Given the description of an element on the screen output the (x, y) to click on. 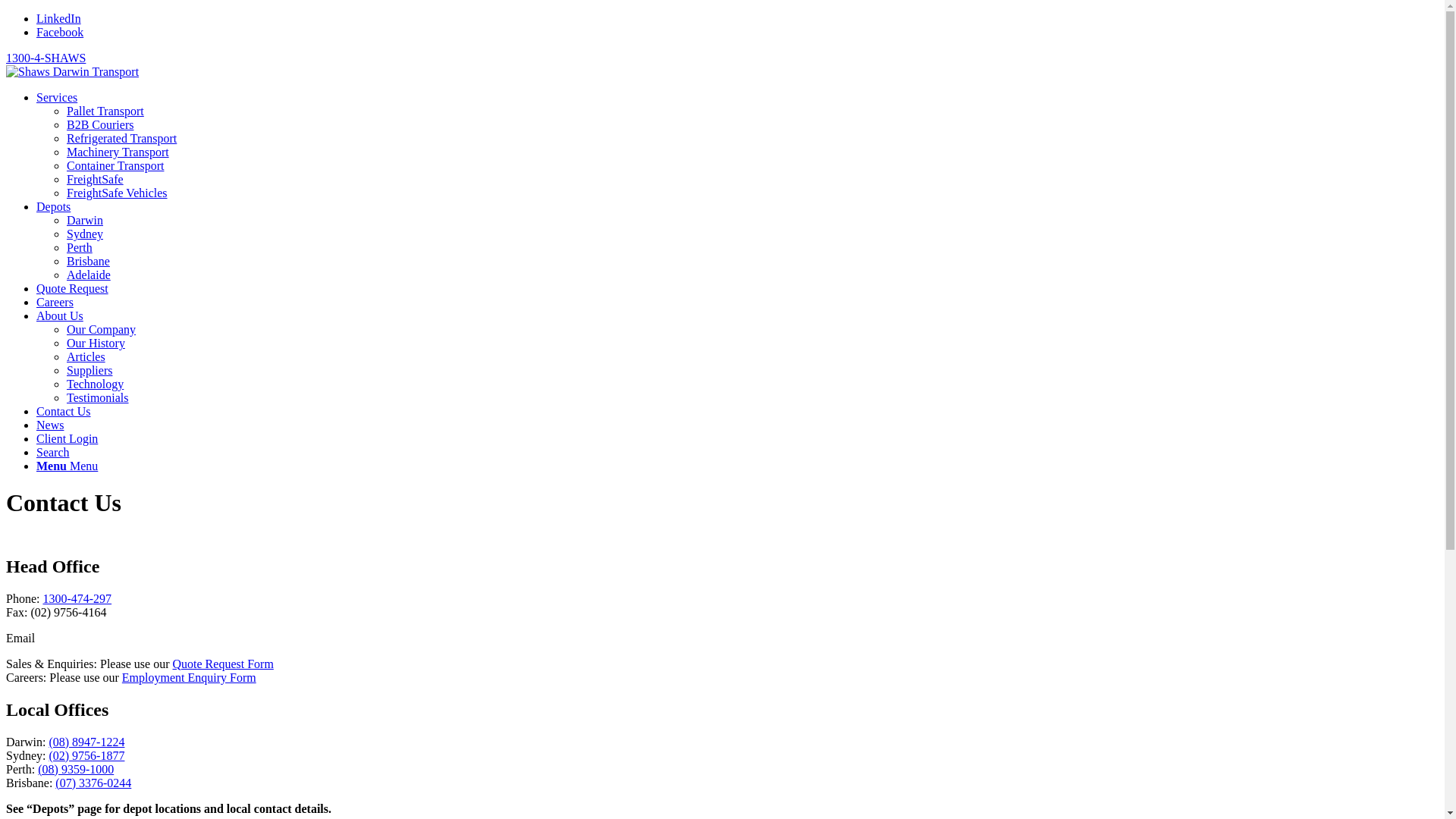
Testimonials Element type: text (97, 397)
Brisbane Element type: text (87, 260)
(07) 3376-0244 Element type: text (93, 782)
(02) 9756-1877 Element type: text (86, 755)
Technology Element type: text (94, 383)
Careers Element type: text (54, 301)
Articles Element type: text (85, 356)
CHANGE THIS TITLE Element type: hover (72, 71)
Our Company Element type: text (100, 329)
Menu Menu Element type: text (66, 465)
1300-4-SHAWS Element type: text (45, 57)
FreightSafe Vehicles Element type: text (116, 192)
B2B Couriers Element type: text (99, 124)
Contact Us Element type: text (63, 410)
(08) 9359-1000 Element type: text (75, 768)
Our History Element type: text (95, 342)
Quote Request Form Element type: text (222, 663)
Client Login Element type: text (66, 438)
(08) 8947-1224 Element type: text (86, 741)
Perth Element type: text (79, 247)
Container Transport Element type: text (114, 165)
Pallet Transport Element type: text (105, 110)
FreightSafe Element type: text (94, 178)
Refrigerated Transport Element type: text (121, 137)
Adelaide Element type: text (88, 274)
Sydney Element type: text (84, 233)
Services Element type: text (56, 97)
Quote Request Element type: text (72, 288)
Machinery Transport Element type: text (117, 151)
1300-474-297 Element type: text (76, 598)
Depots Element type: text (53, 206)
Suppliers Element type: text (89, 370)
Darwin Element type: text (84, 219)
News Element type: text (49, 424)
Facebook Element type: text (59, 31)
Employment Enquiry Form Element type: text (189, 677)
Search Element type: text (52, 451)
LinkedIn Element type: text (58, 18)
About Us Element type: text (59, 315)
